Given the description of an element on the screen output the (x, y) to click on. 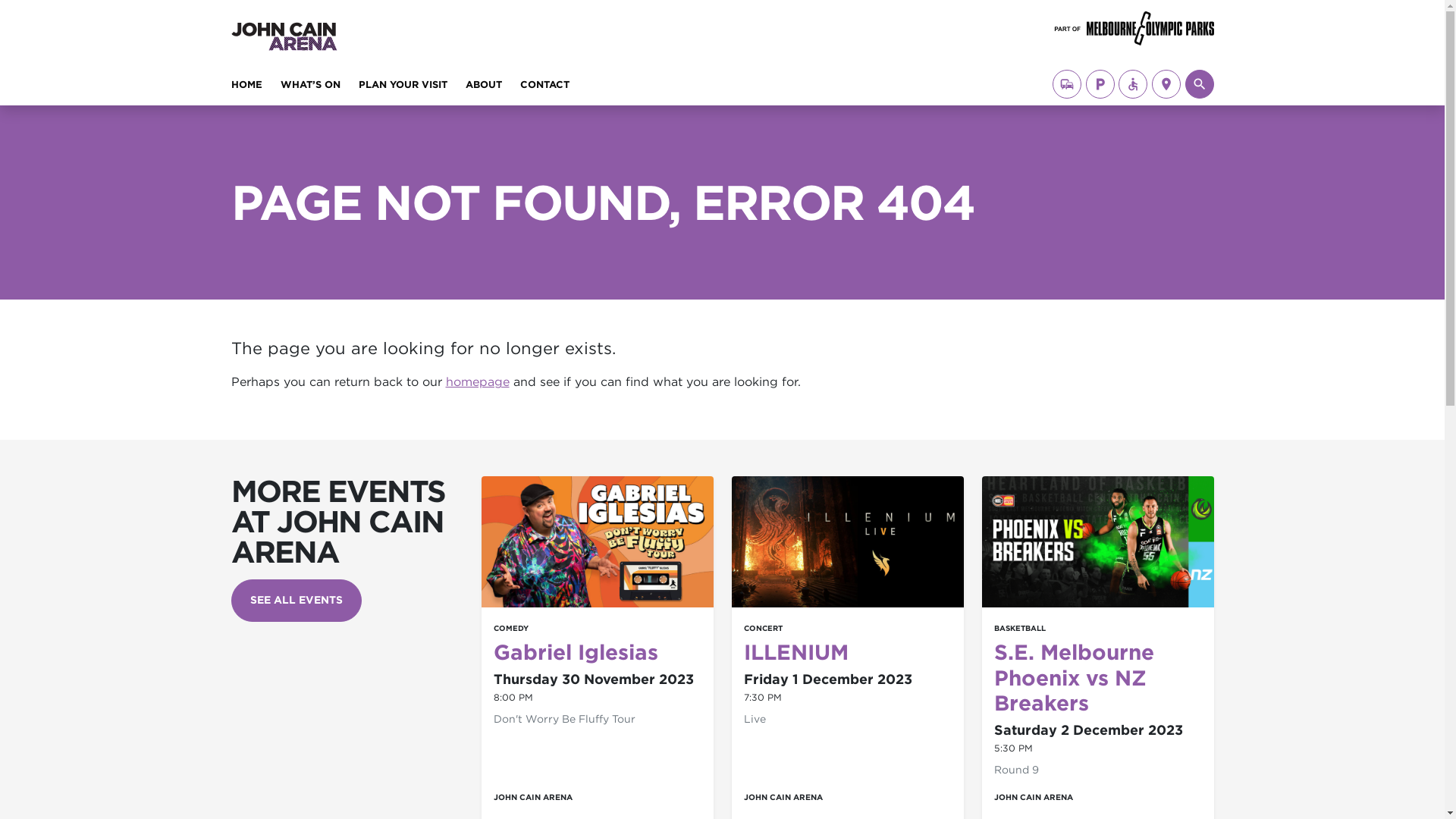
PLAN YOUR VISIT Element type: text (401, 87)
commute
Getting Here Element type: text (1066, 83)
S.E. Melbourne Phoenix vs NZ Breakers Element type: text (1073, 677)
Skip to primary navigation Element type: text (23, 21)
location_on
Maps Element type: text (1165, 83)
SEE ALL EVENTS Element type: text (295, 600)
ABOUT Element type: text (483, 87)
accessible
Accessibility Element type: text (1132, 83)
Gabriel Iglesias Element type: text (574, 652)
local_parking
Parking Element type: text (1099, 83)
search Element type: text (1198, 83)
ILLENIUM Element type: text (795, 652)
HOME Element type: text (245, 87)
homepage Element type: text (477, 381)
John Cain Arena Element type: text (336, 21)
CONTACT Element type: text (544, 87)
